Given the description of an element on the screen output the (x, y) to click on. 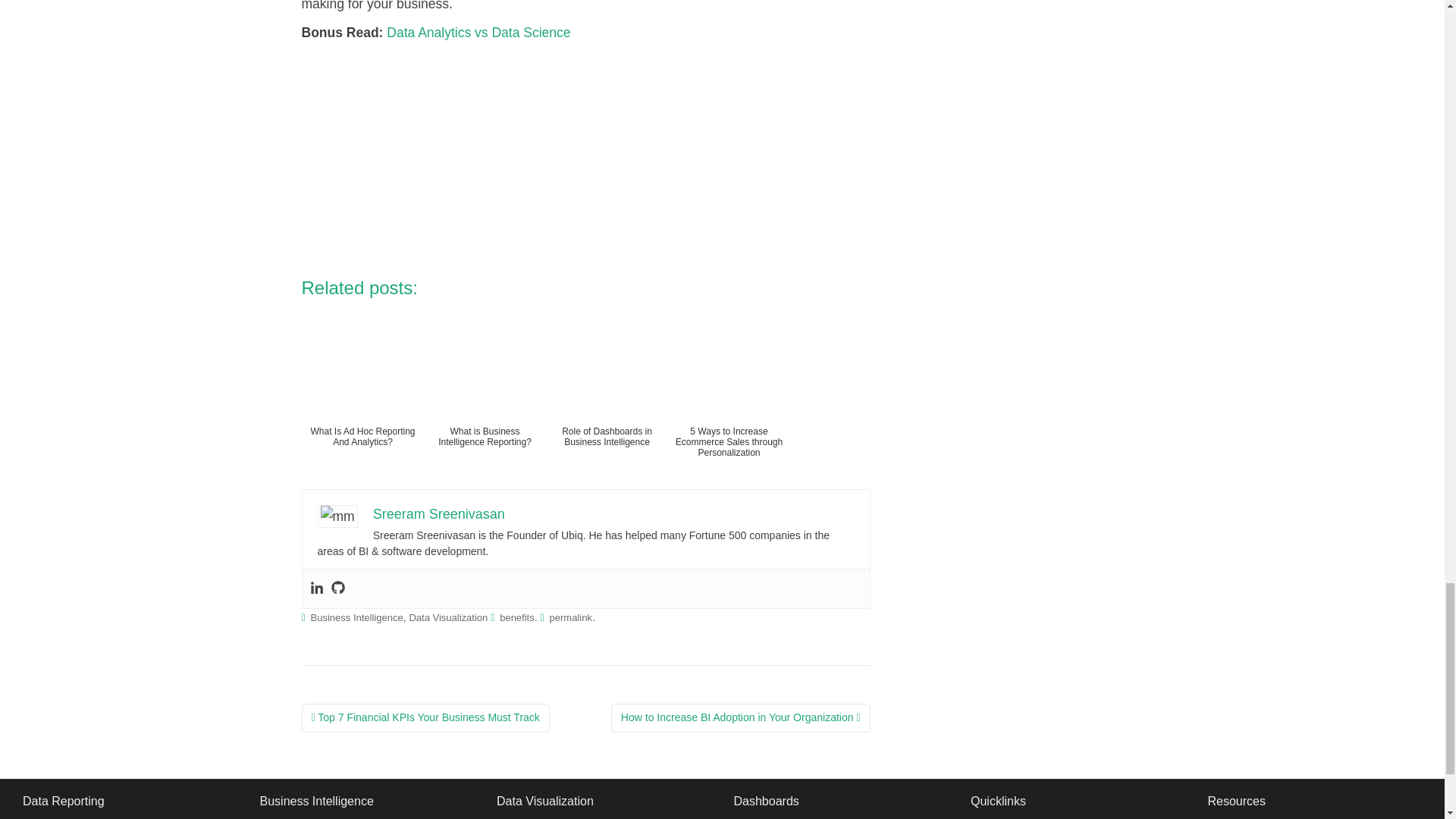
BI Solution (280, 818)
Sreeram Sreenivasan (438, 513)
How to Increase BI Adoption in Your Organization (740, 717)
permalink (571, 617)
benefits (516, 617)
Business Intelligence (357, 617)
Data Visualization (448, 617)
Data Analytics vs Data Science (478, 32)
Top 7 Financial KPIs Your Business Must Track (425, 717)
